Given the description of an element on the screen output the (x, y) to click on. 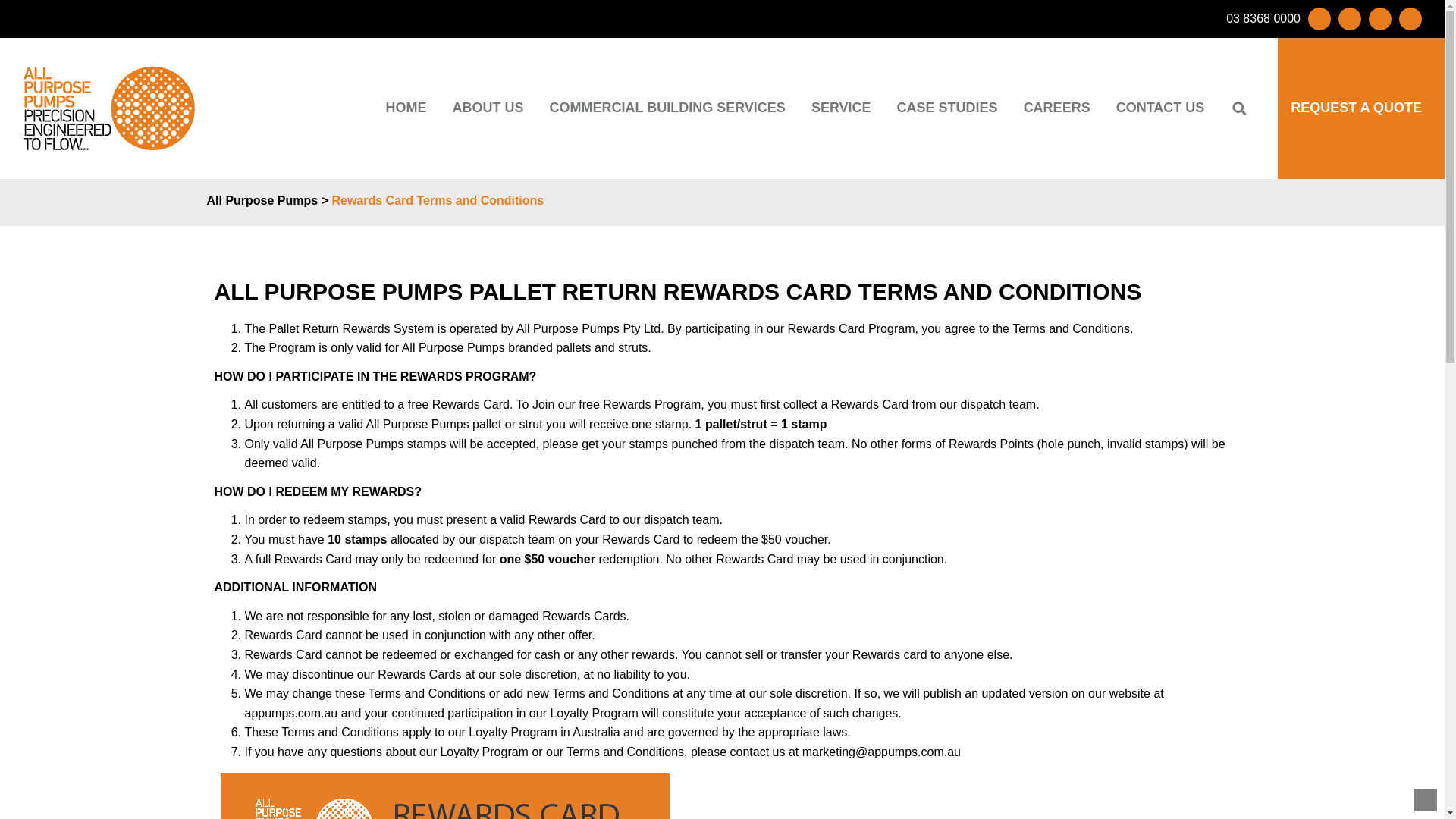
All Purpose Pumps (261, 200)
REQUEST A QUOTE (1350, 108)
Go to All Purpose Pumps. (261, 200)
COMMERCIAL BUILDING SERVICES (667, 108)
CASE STUDIES (946, 108)
Go to Rewards Card Terms and Conditions. (437, 200)
03 8368 0000 (1262, 19)
Rewards Card Terms and Conditions (437, 200)
